Given the description of an element on the screen output the (x, y) to click on. 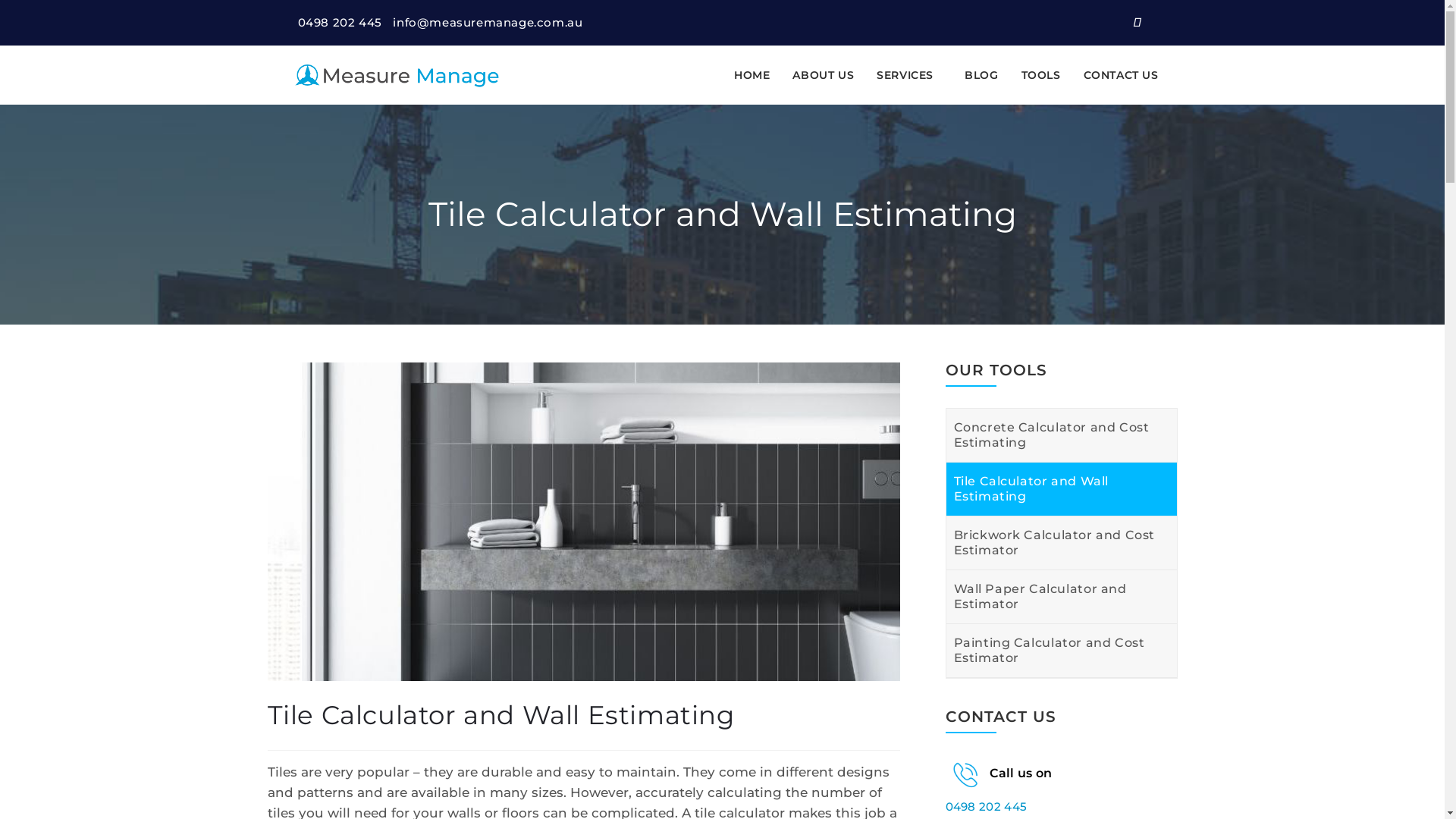
ABOUT US Element type: text (823, 74)
HOME Element type: text (751, 74)
TOOLS Element type: text (1041, 74)
SERVICES Element type: text (909, 74)
0498 202 445 Element type: text (985, 806)
Concrete Calculator and Cost Estimating Element type: text (1061, 434)
Brickwork Calculator and Cost Estimator Element type: text (1061, 542)
CONTACT US Element type: text (1121, 74)
Tile Calculator and Wall Estimating Element type: hover (584, 519)
Tile Calculator and Wall Estimating Element type: text (1061, 488)
Wall Paper Calculator and Estimator Element type: text (1061, 596)
Painting Calculator and Cost Estimator Element type: text (1061, 650)
BLOG Element type: text (981, 74)
